Given the description of an element on the screen output the (x, y) to click on. 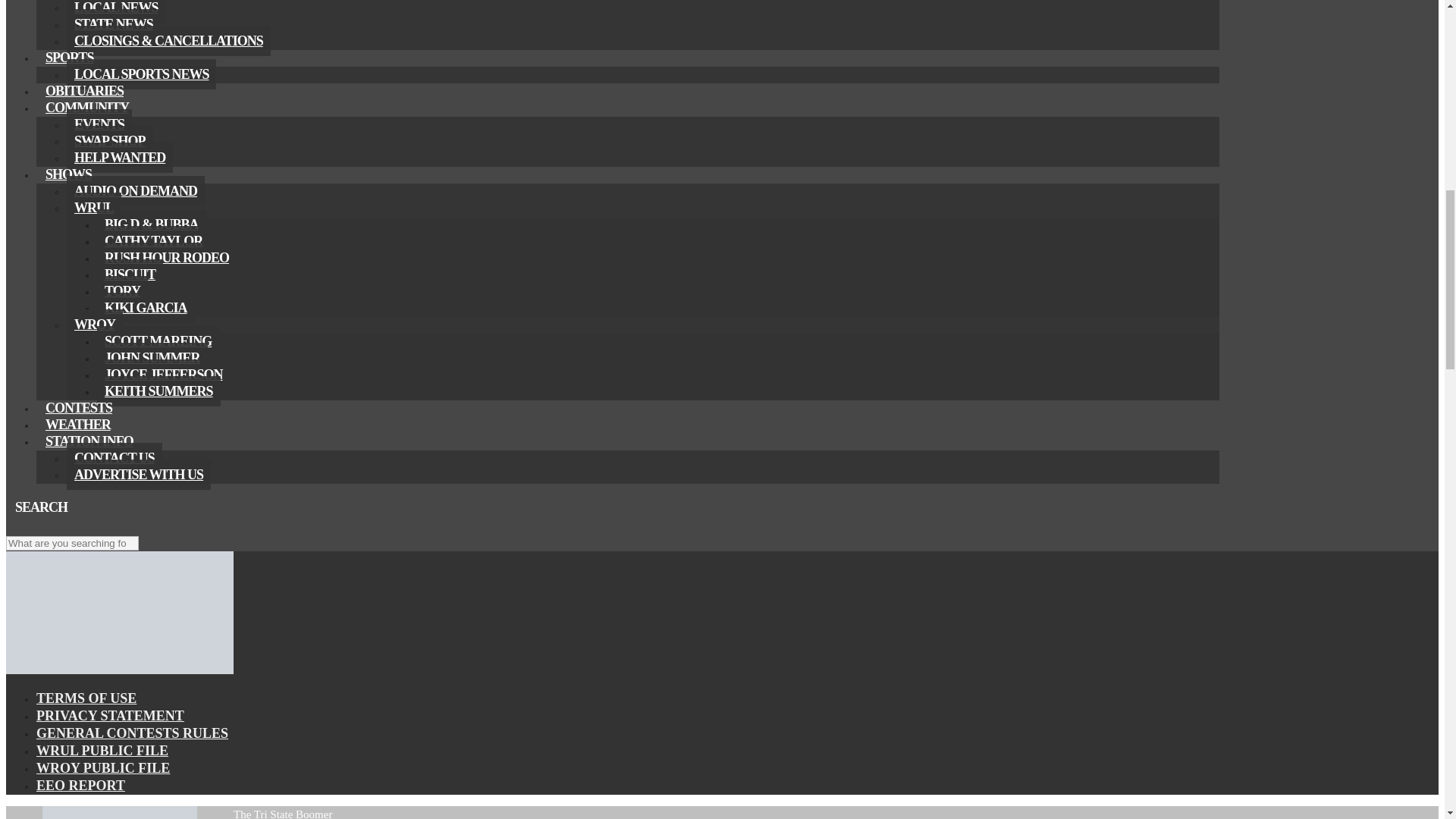
Search for: (71, 543)
WRUL-FM (118, 670)
NEWS (63, 2)
